Given the description of an element on the screen output the (x, y) to click on. 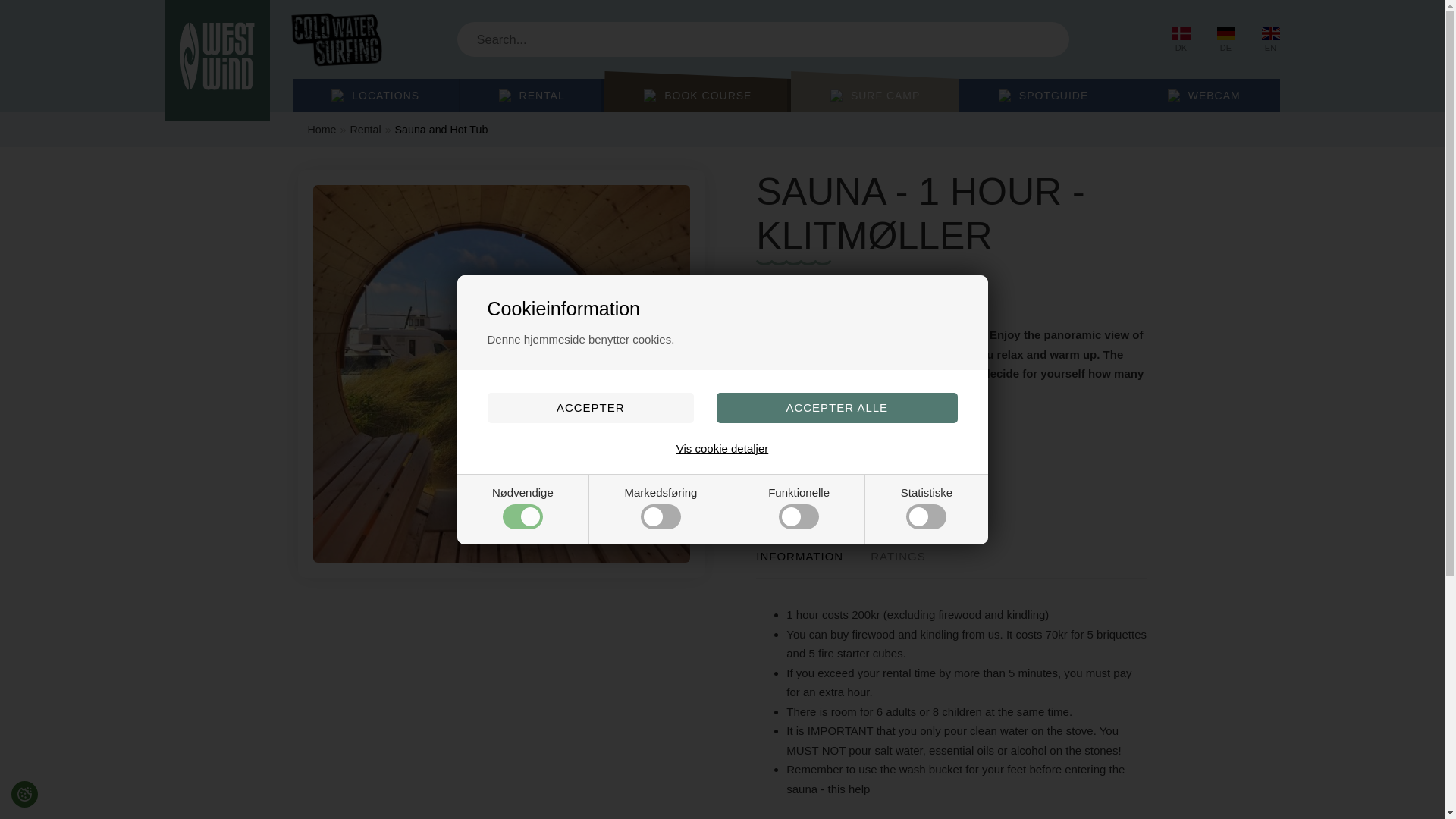
Accepter alle (837, 408)
RENTAL (532, 95)
Accepter (589, 408)
BOOK COURSE (697, 95)
LOCATIONS (376, 95)
Book Course (697, 95)
Rental (532, 95)
Vis cookie detaljer (722, 447)
Locations (376, 95)
SURF CAMP (874, 95)
Surf camp (874, 95)
